Given the description of an element on the screen output the (x, y) to click on. 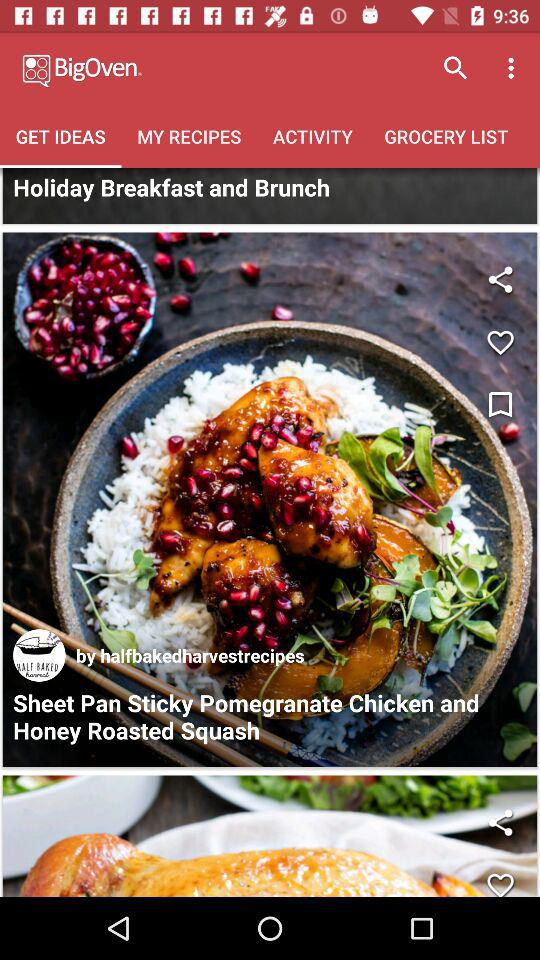
go to site (39, 655)
